Given the description of an element on the screen output the (x, y) to click on. 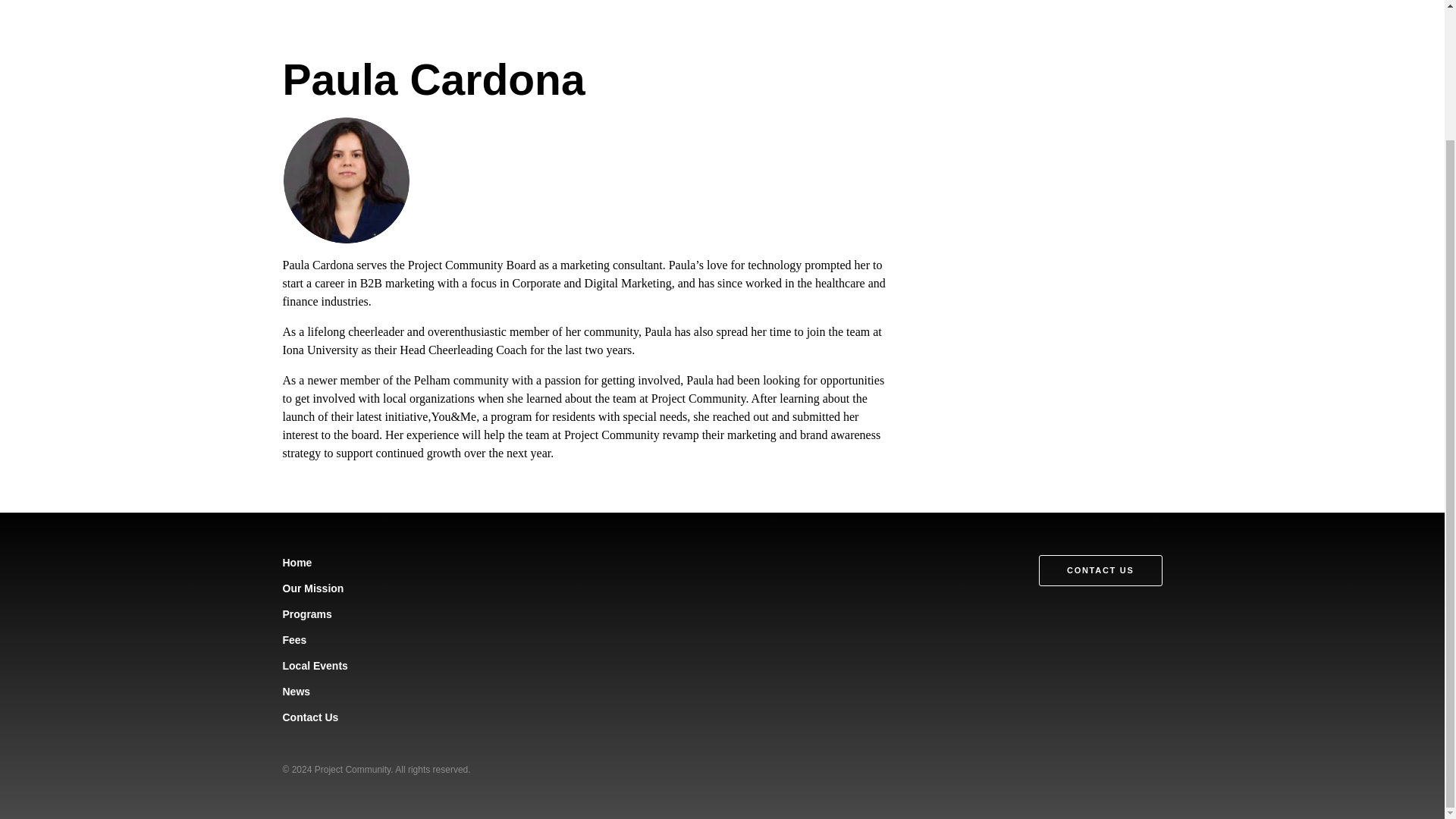
Contact Us (309, 717)
Fees (293, 639)
Our Mission (312, 588)
Local Events (314, 665)
News (296, 691)
Home (296, 562)
Programs (306, 613)
CONTACT US (1100, 570)
Project Community (352, 769)
